Given the description of an element on the screen output the (x, y) to click on. 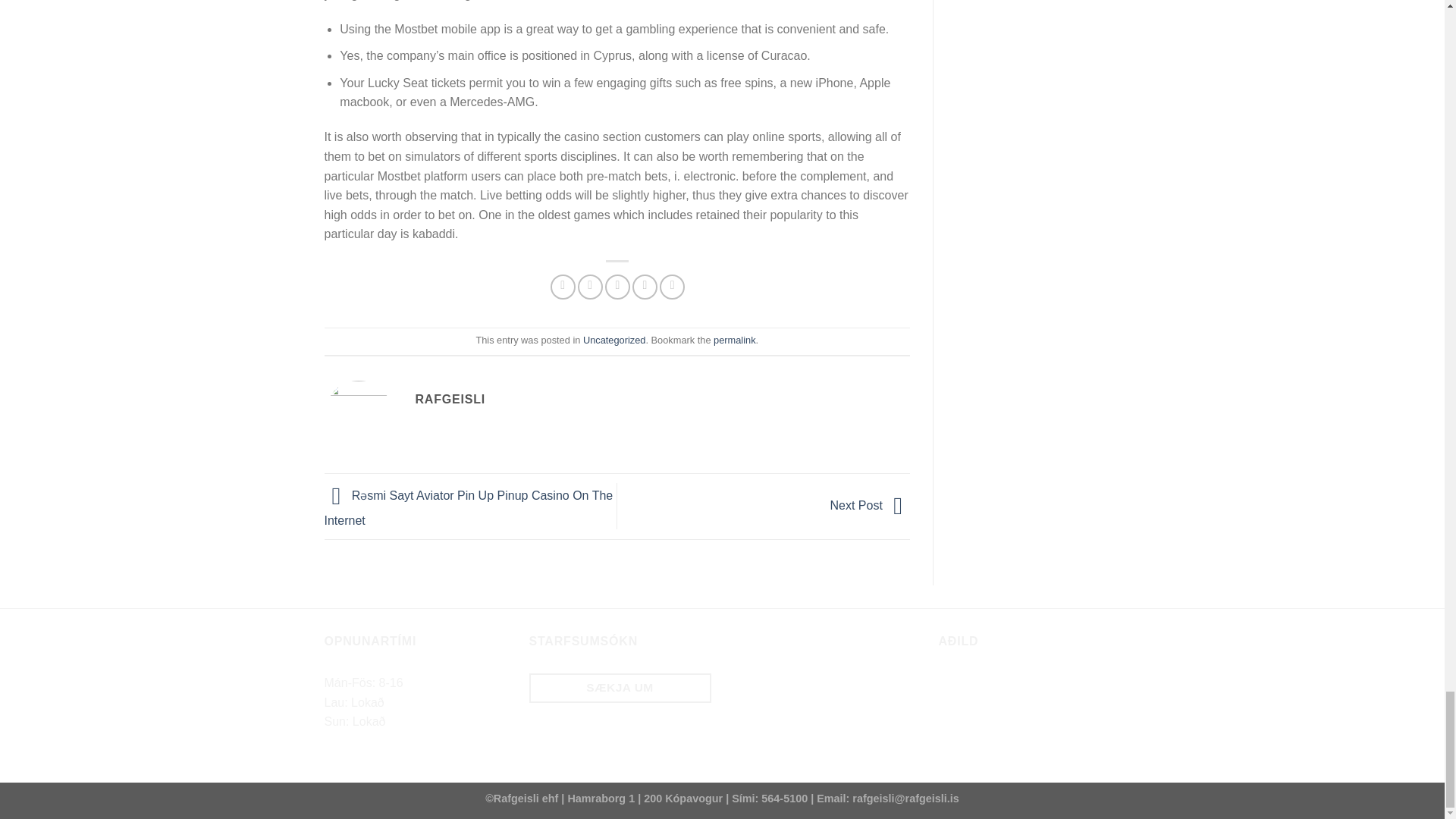
Share on Facebook (562, 286)
Permalink to Is Mostbet App Lawful In India? (734, 339)
Share on Twitter (590, 286)
Email to a Friend (617, 286)
Share on LinkedIn (671, 286)
Pin on Pinterest (644, 286)
